Given the description of an element on the screen output the (x, y) to click on. 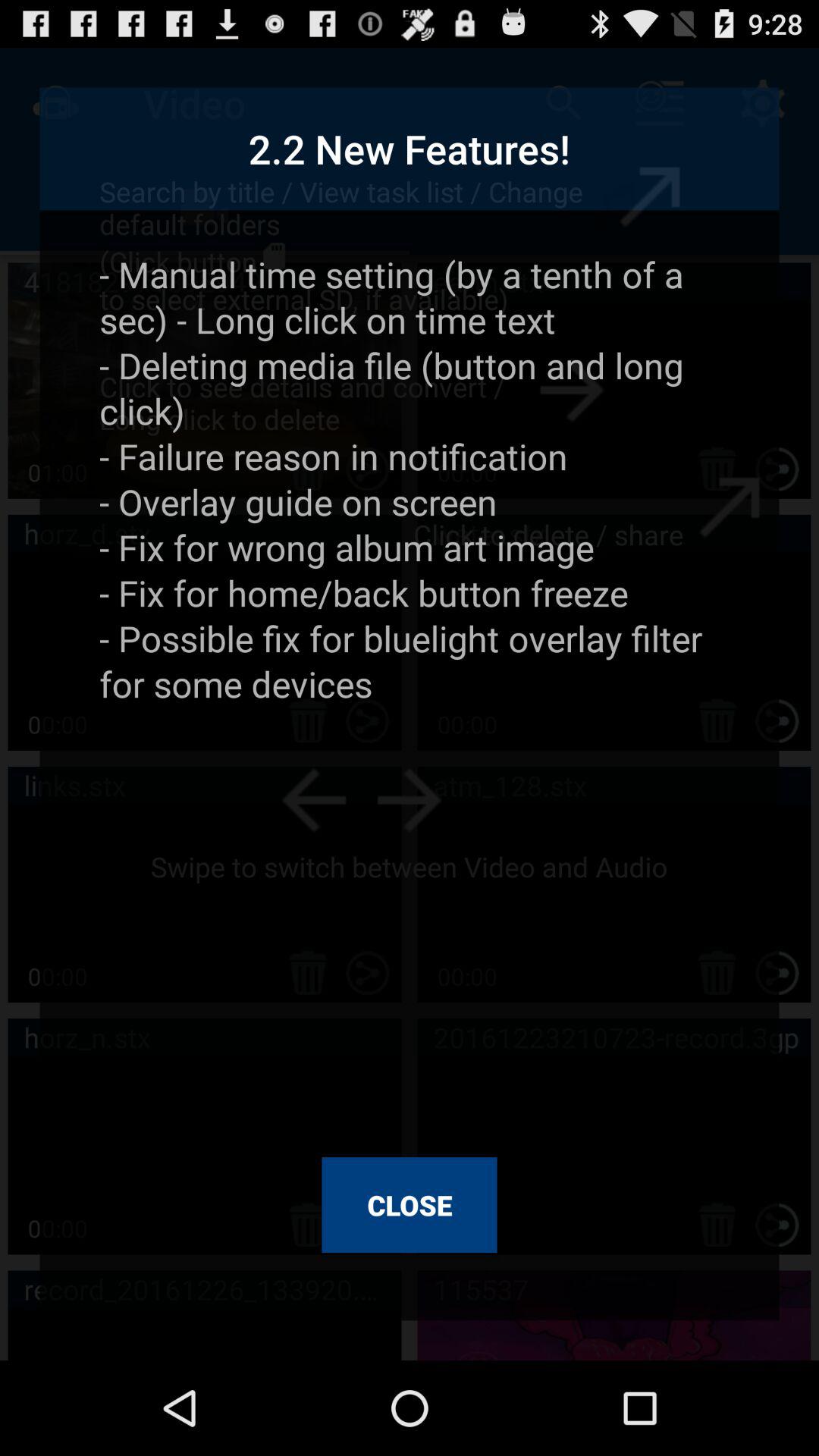
click close item (409, 1204)
